Given the description of an element on the screen output the (x, y) to click on. 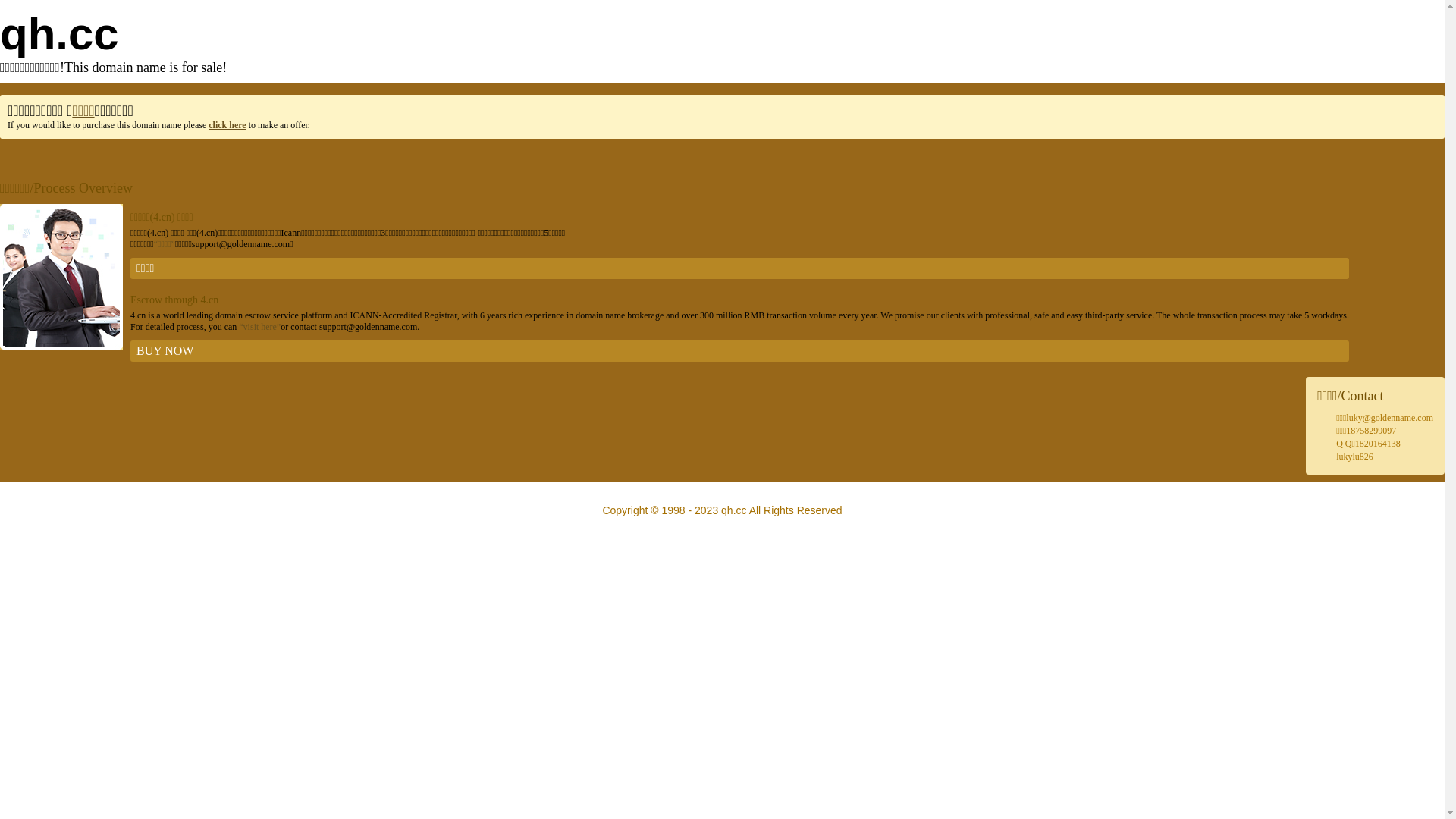
BUY NOW Element type: text (739, 350)
click here Element type: text (226, 124)
